Given the description of an element on the screen output the (x, y) to click on. 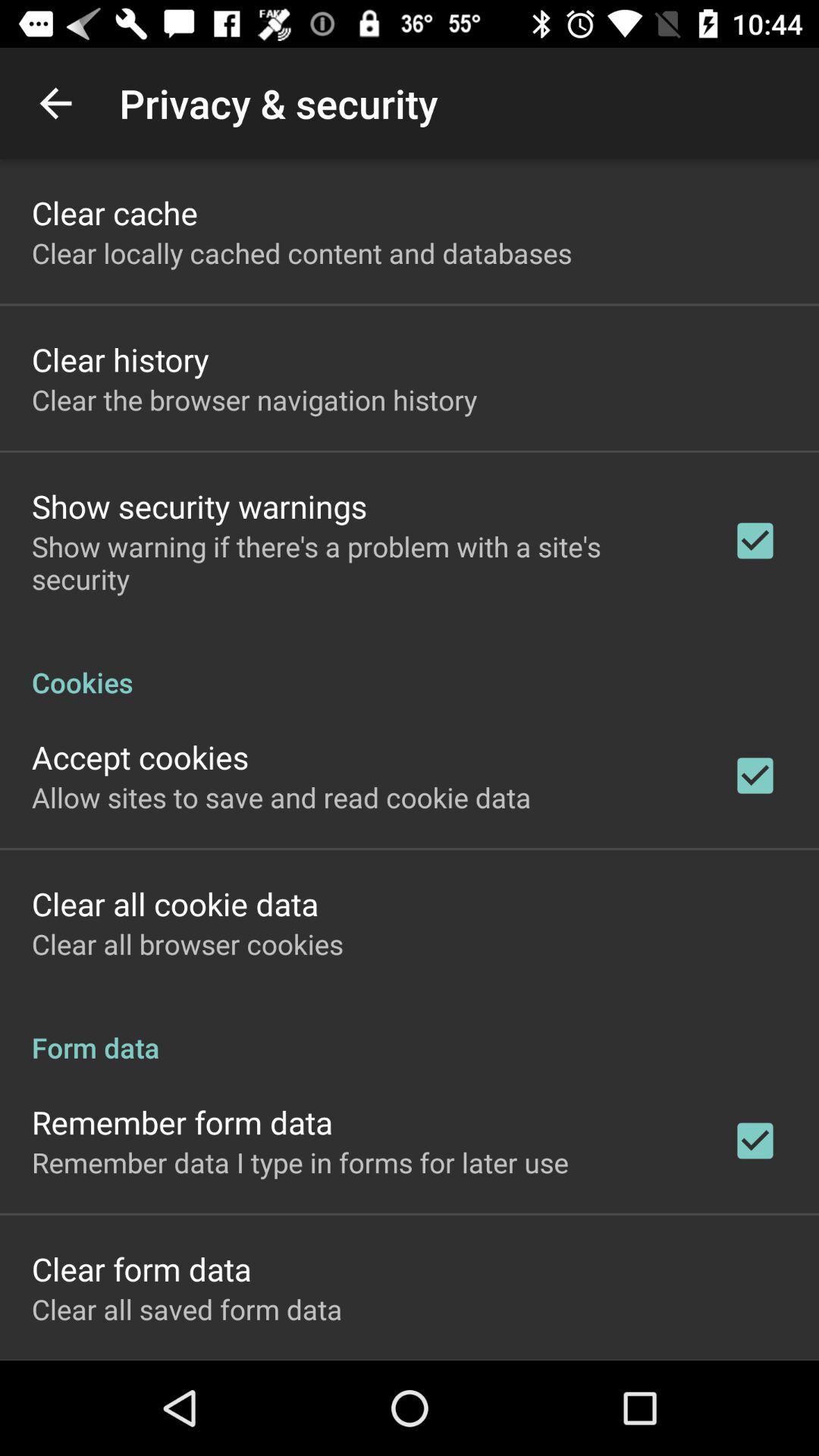
select the icon below accept cookies app (281, 797)
